Given the description of an element on the screen output the (x, y) to click on. 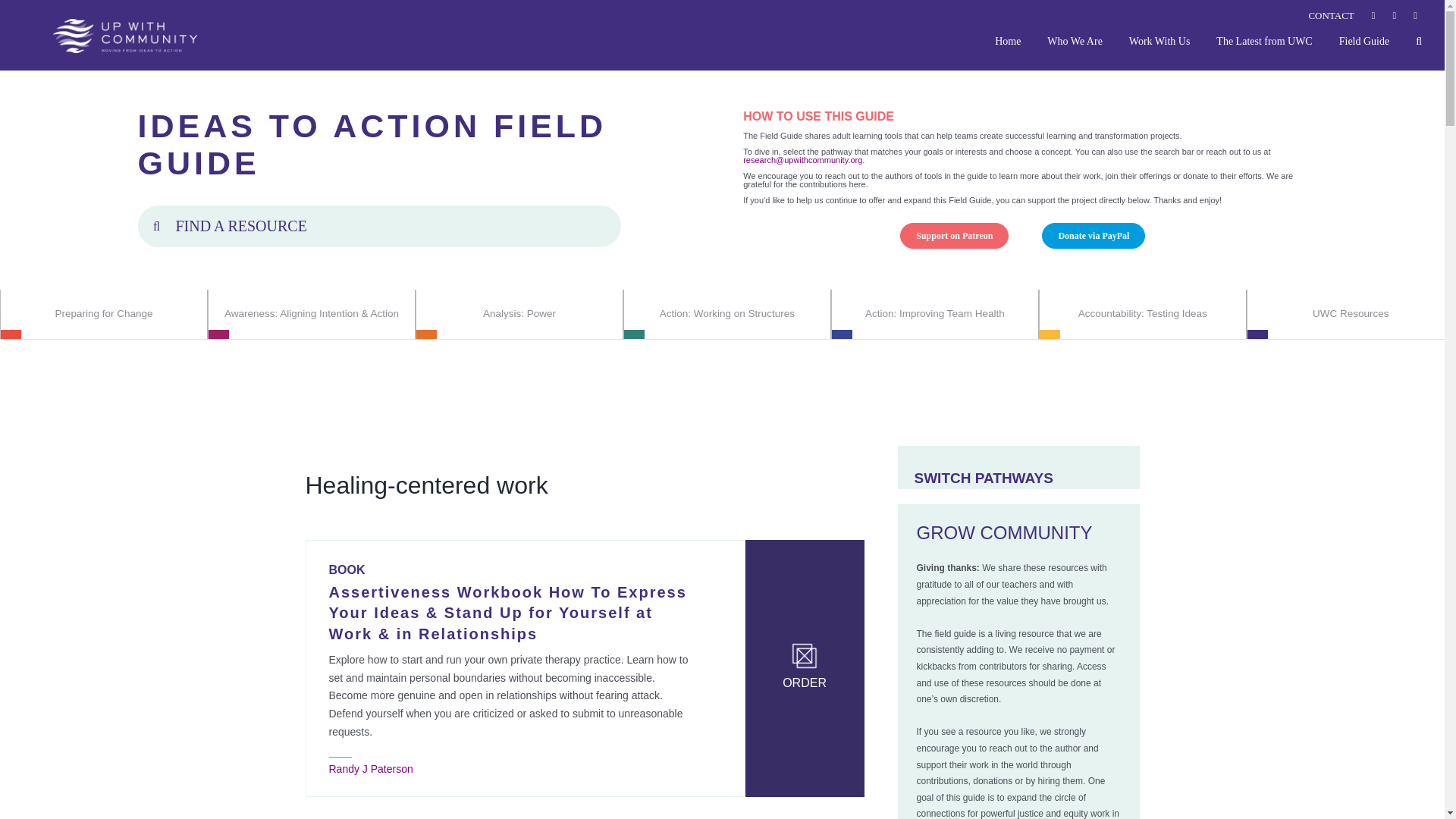
The Latest from UWC (1263, 40)
Who We Are (1074, 40)
CONTACT (1330, 15)
Support on Patreon (954, 235)
Field Guide (1364, 40)
Work With Us (1160, 40)
Donate via PayPal (1093, 235)
